Given the description of an element on the screen output the (x, y) to click on. 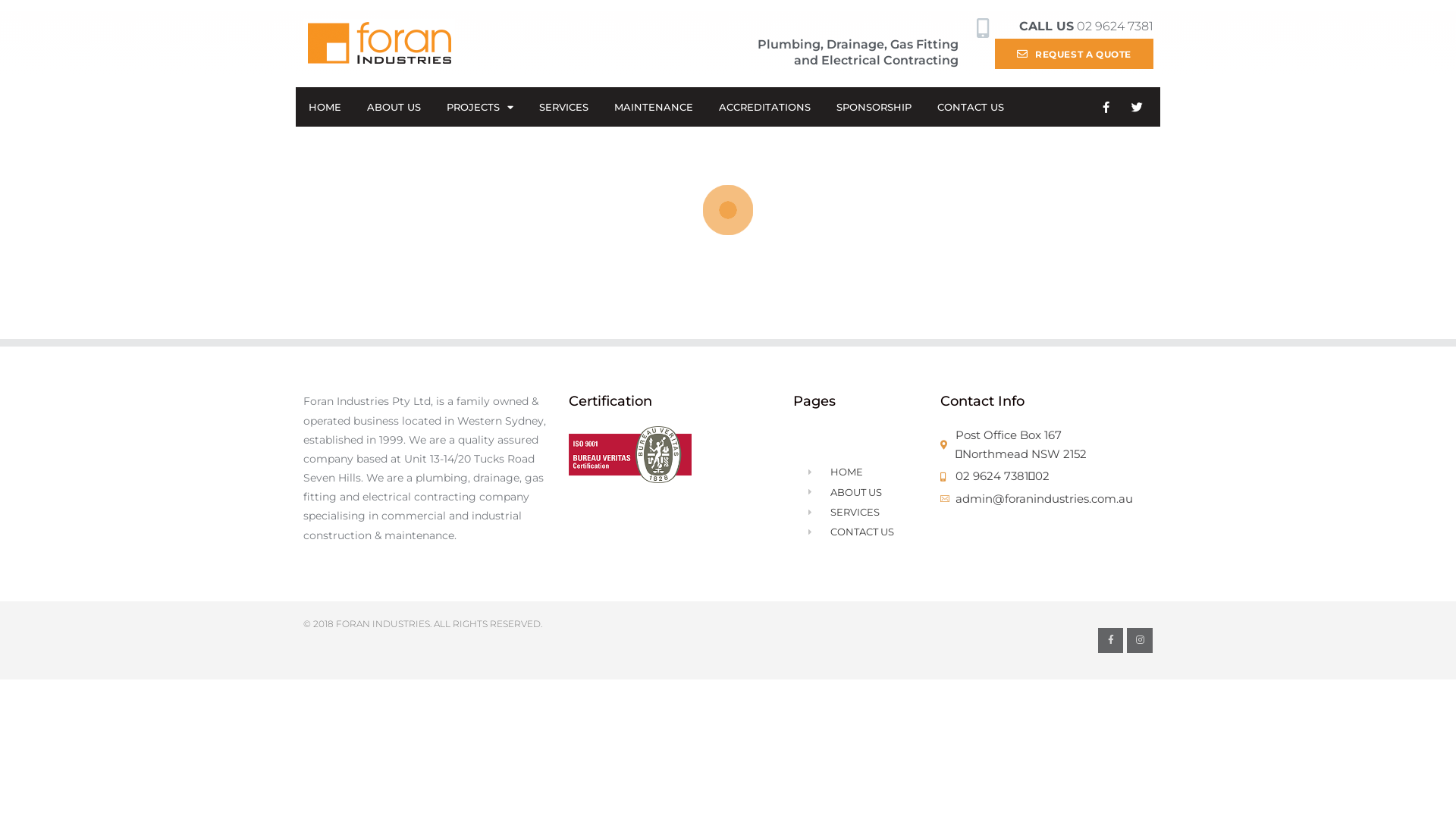
HOME Element type: text (855, 472)
ABOUT US Element type: text (855, 491)
PROJECTS Element type: text (479, 106)
02 9624 738102 Element type: text (1046, 476)
HOME Element type: text (324, 106)
ACCREDITATIONS Element type: text (764, 106)
SPONSORSHIP Element type: text (873, 106)
SERVICES Element type: text (855, 512)
SERVICES Element type: text (563, 106)
CONTACT US Element type: text (970, 106)
ABOUT US Element type: text (393, 106)
CONTACT US Element type: text (855, 531)
REQUEST A QUOTE Element type: text (1073, 53)
MAINTENANCE Element type: text (653, 106)
admin@foranindustries.com.au Element type: text (1046, 498)
CALL US 02 9624 7381 Element type: text (1086, 25)
